Given the description of an element on the screen output the (x, y) to click on. 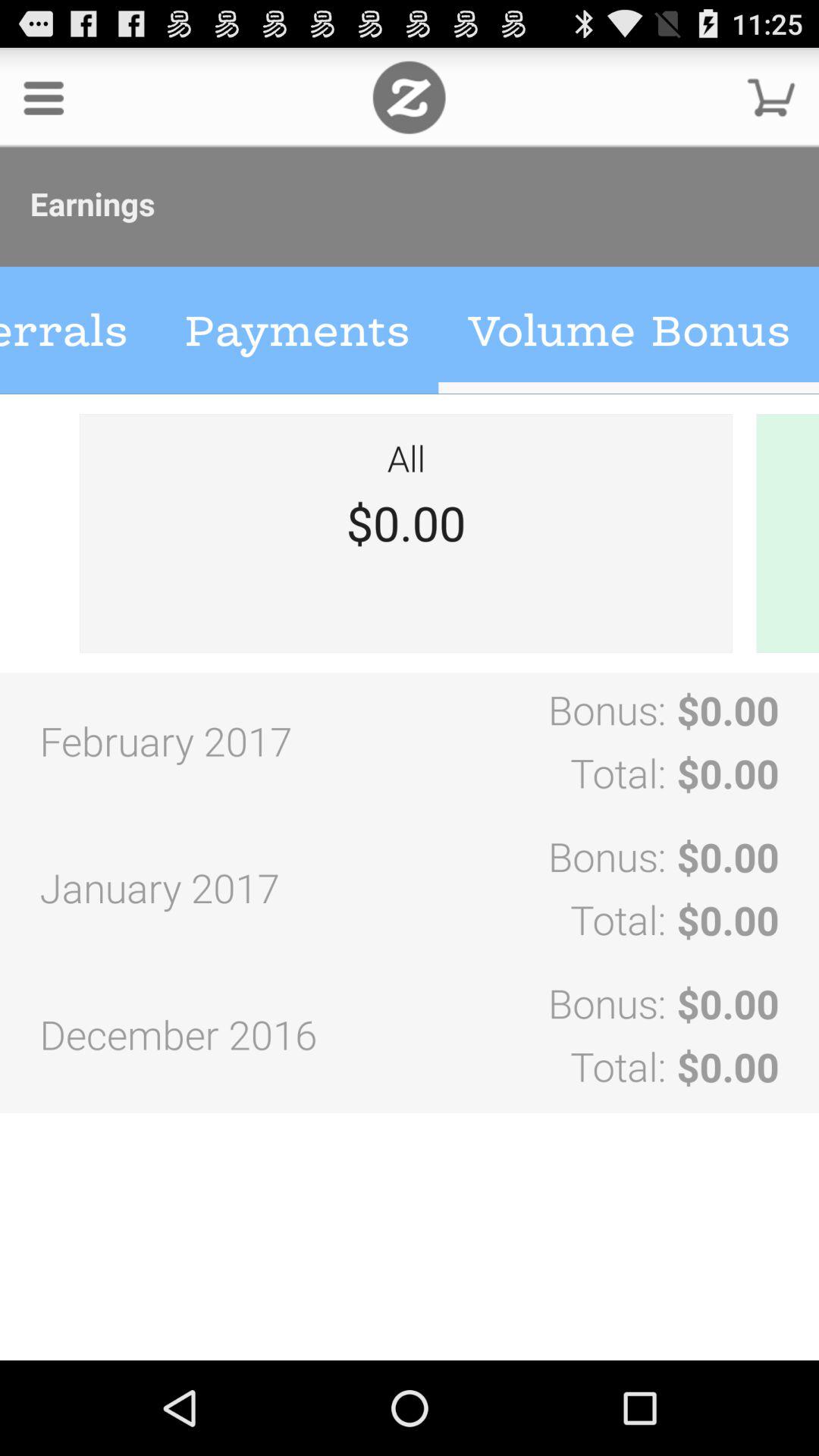
menu option (43, 97)
